Given the description of an element on the screen output the (x, y) to click on. 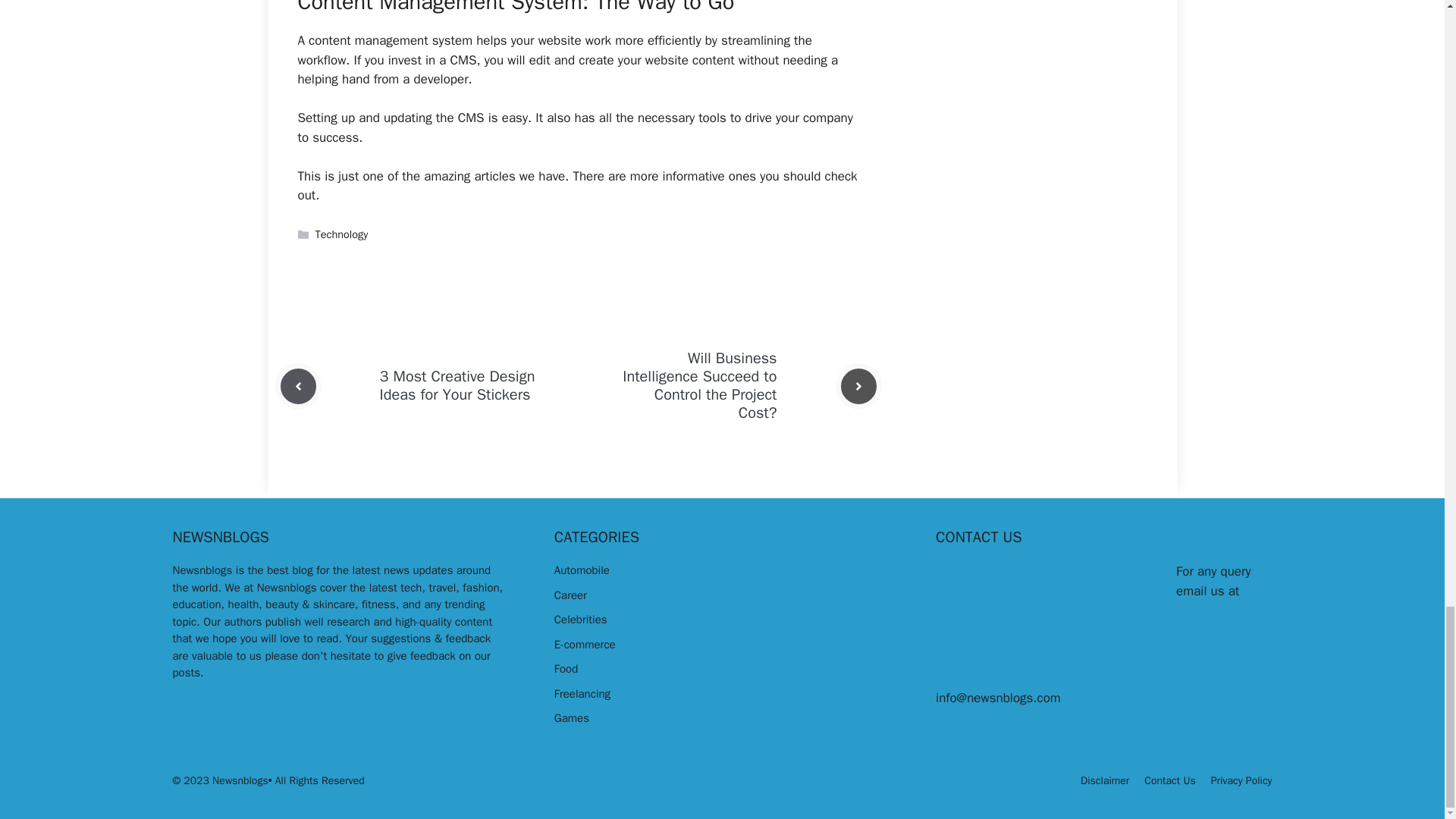
Games (571, 717)
Food (566, 668)
Freelancing (582, 694)
Technology (341, 233)
Automobile (582, 570)
E-commerce (584, 644)
Celebrities (580, 619)
Career (570, 594)
Newsnblogs (202, 570)
